Given the description of an element on the screen output the (x, y) to click on. 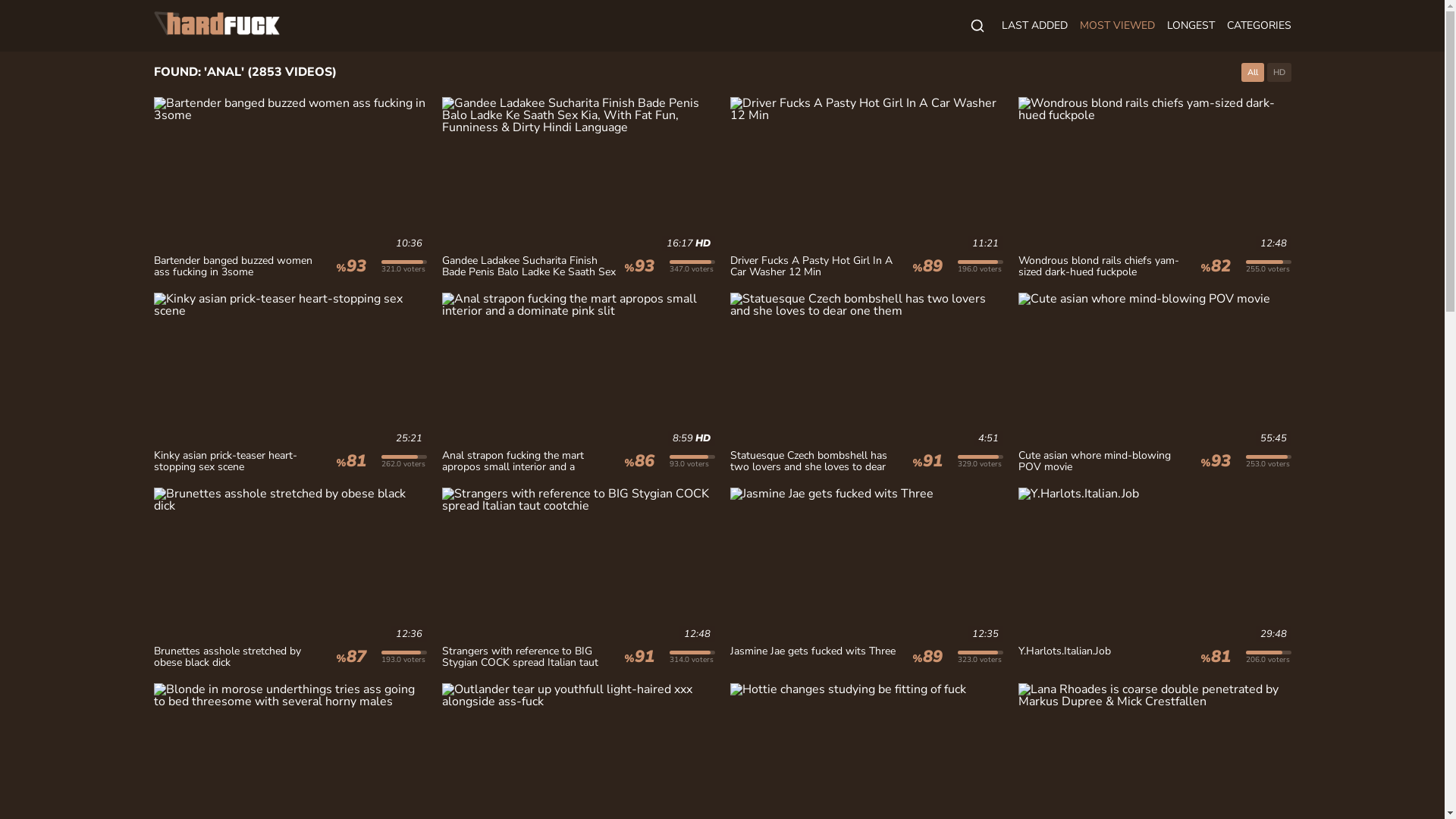
MOST VIEWED Element type: text (1116, 25)
29:48
Y.Harlots.Italian.Job
81
206.0 voters Element type: text (1153, 577)
HD Element type: text (1278, 71)
LAST ADDED Element type: text (1033, 25)
12:35
Jasmine Jae gets fucked wits Three
89
323.0 voters Element type: text (865, 577)
LONGEST Element type: text (1190, 25)
All Element type: text (1251, 71)
CATEGORIES Element type: text (1258, 25)
